Given the description of an element on the screen output the (x, y) to click on. 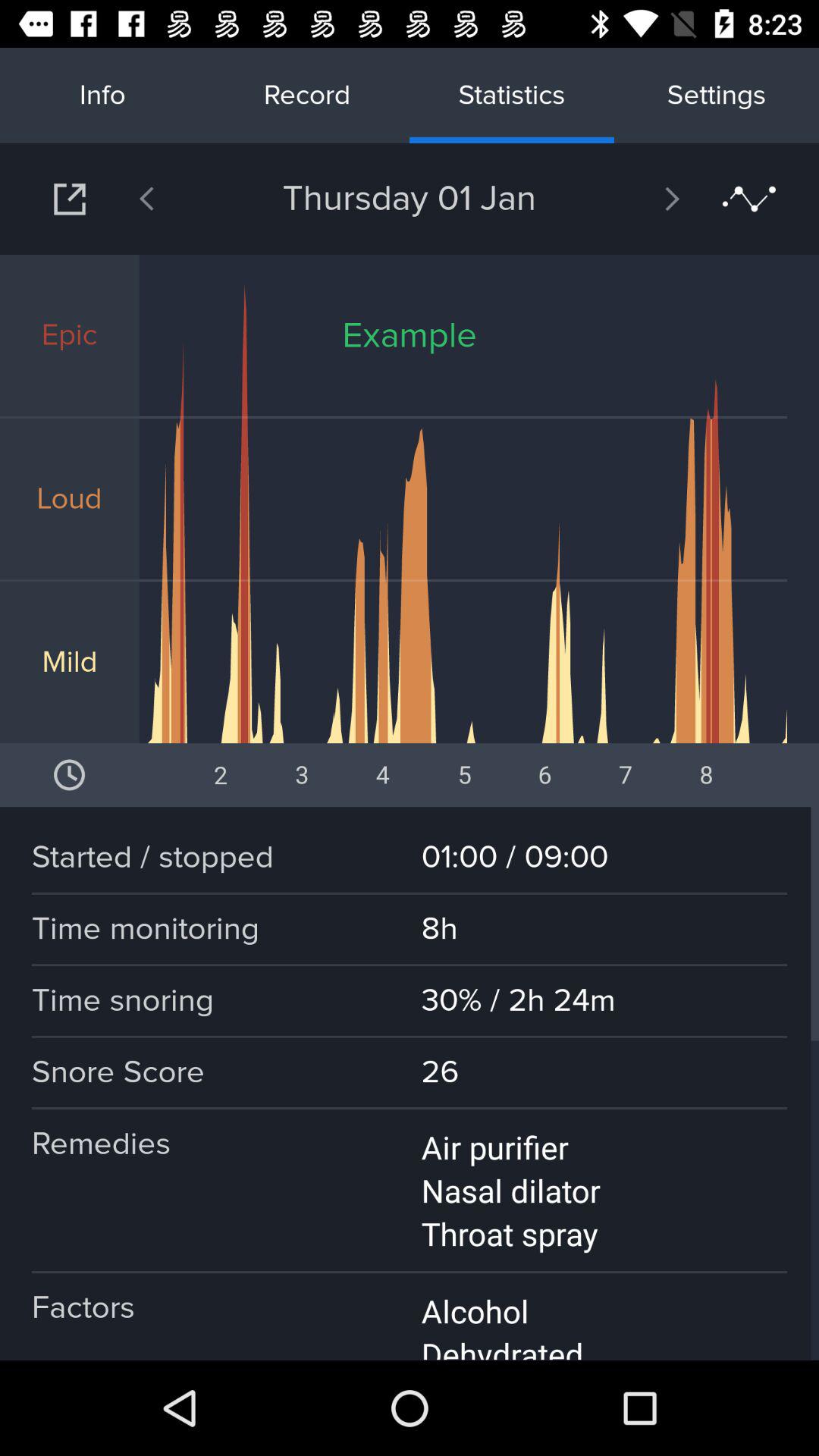
turn off icon below the statistics item (632, 198)
